Given the description of an element on the screen output the (x, y) to click on. 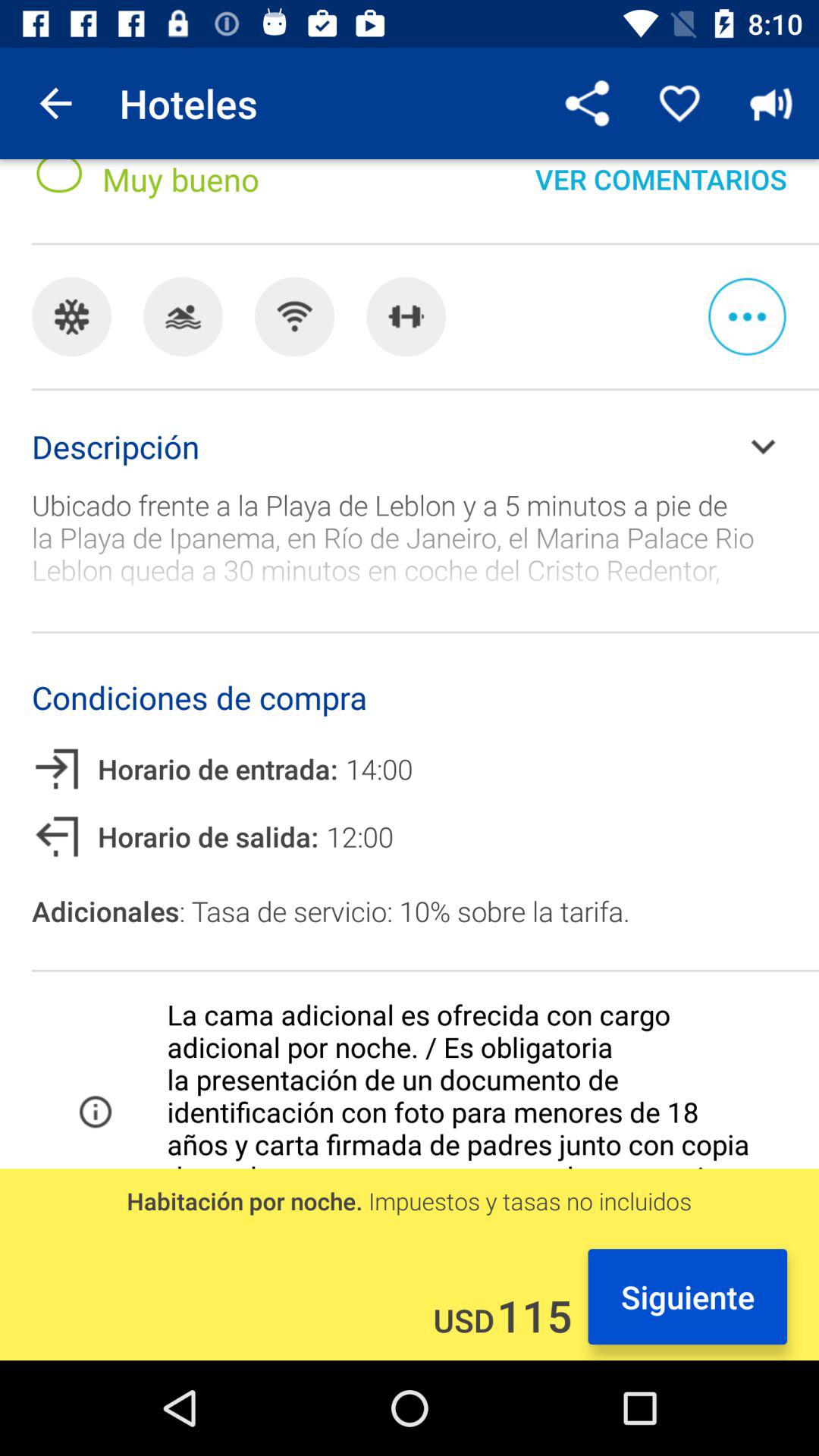
select icon above ver comentarios (679, 103)
